Given the description of an element on the screen output the (x, y) to click on. 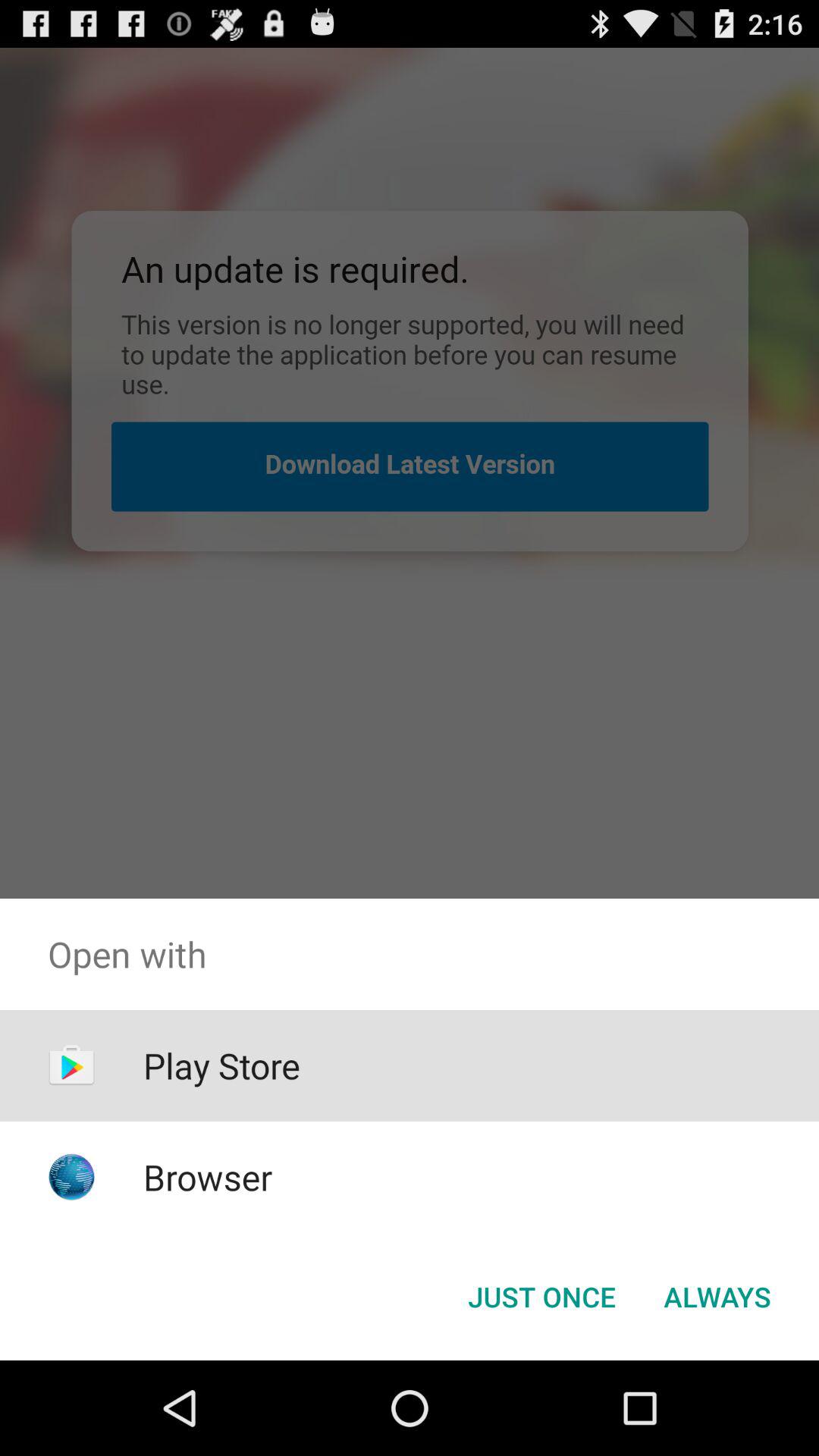
click item next to just once button (717, 1296)
